Given the description of an element on the screen output the (x, y) to click on. 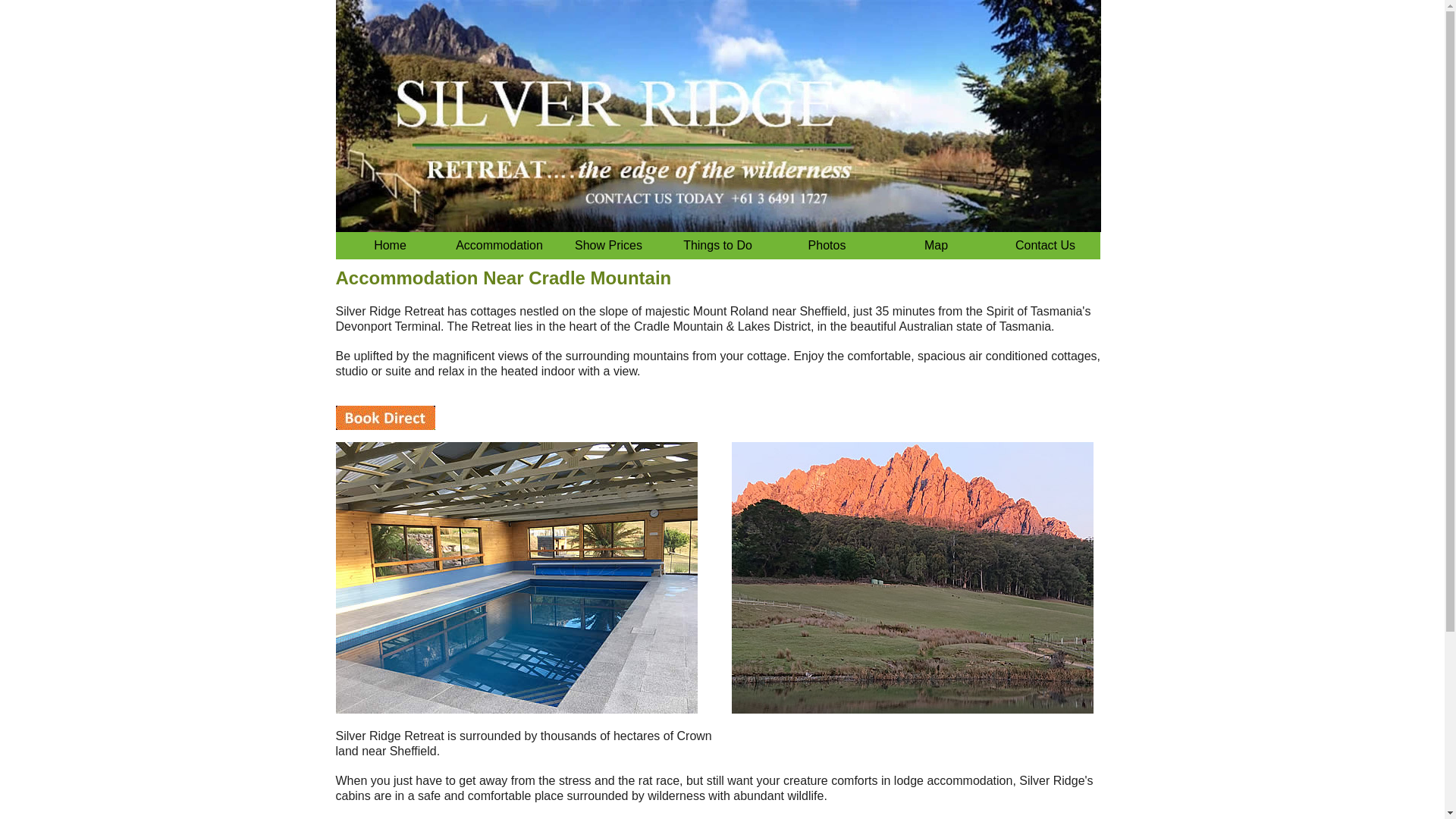
Map to find Silver Ridge Retreat (935, 245)
Home (389, 245)
Accommodation Near Cradle Mountain (389, 245)
Accommodation (498, 245)
Photos (825, 245)
Things to do near Sheffield Tasmania (716, 245)
Contact Us (1044, 245)
Map (935, 245)
Accommodation near Cradle Mountain (1044, 245)
Scenery around Cradle Mountain (825, 245)
